Given the description of an element on the screen output the (x, y) to click on. 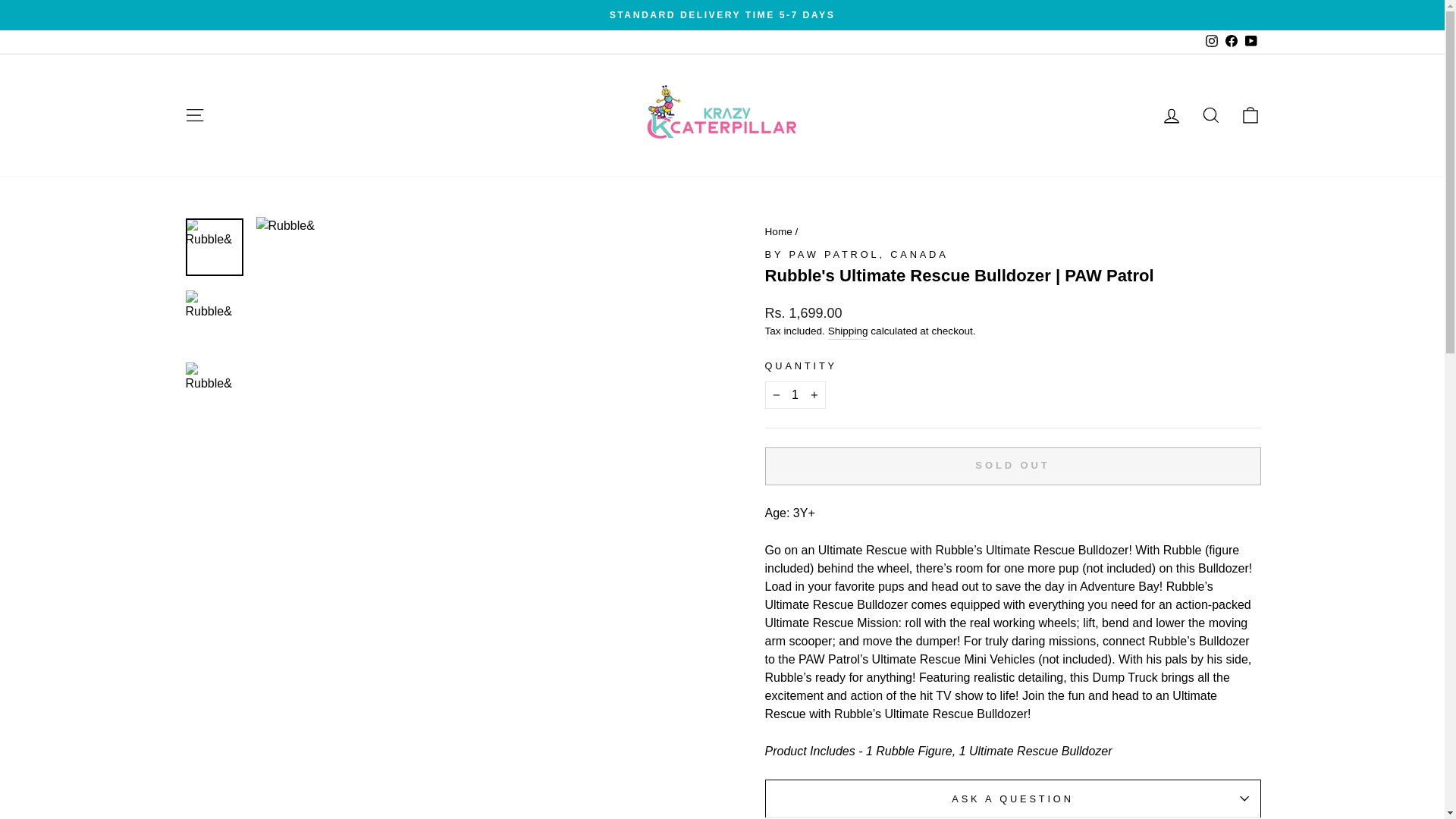
Back to the frontpage (778, 231)
Krazy Caterpillar  on Instagram (1211, 41)
by PAW Patrol, Canada (855, 254)
1 (794, 394)
Krazy Caterpillar  on Facebook (1230, 41)
Krazy Caterpillar  on YouTube (1250, 41)
